Given the description of an element on the screen output the (x, y) to click on. 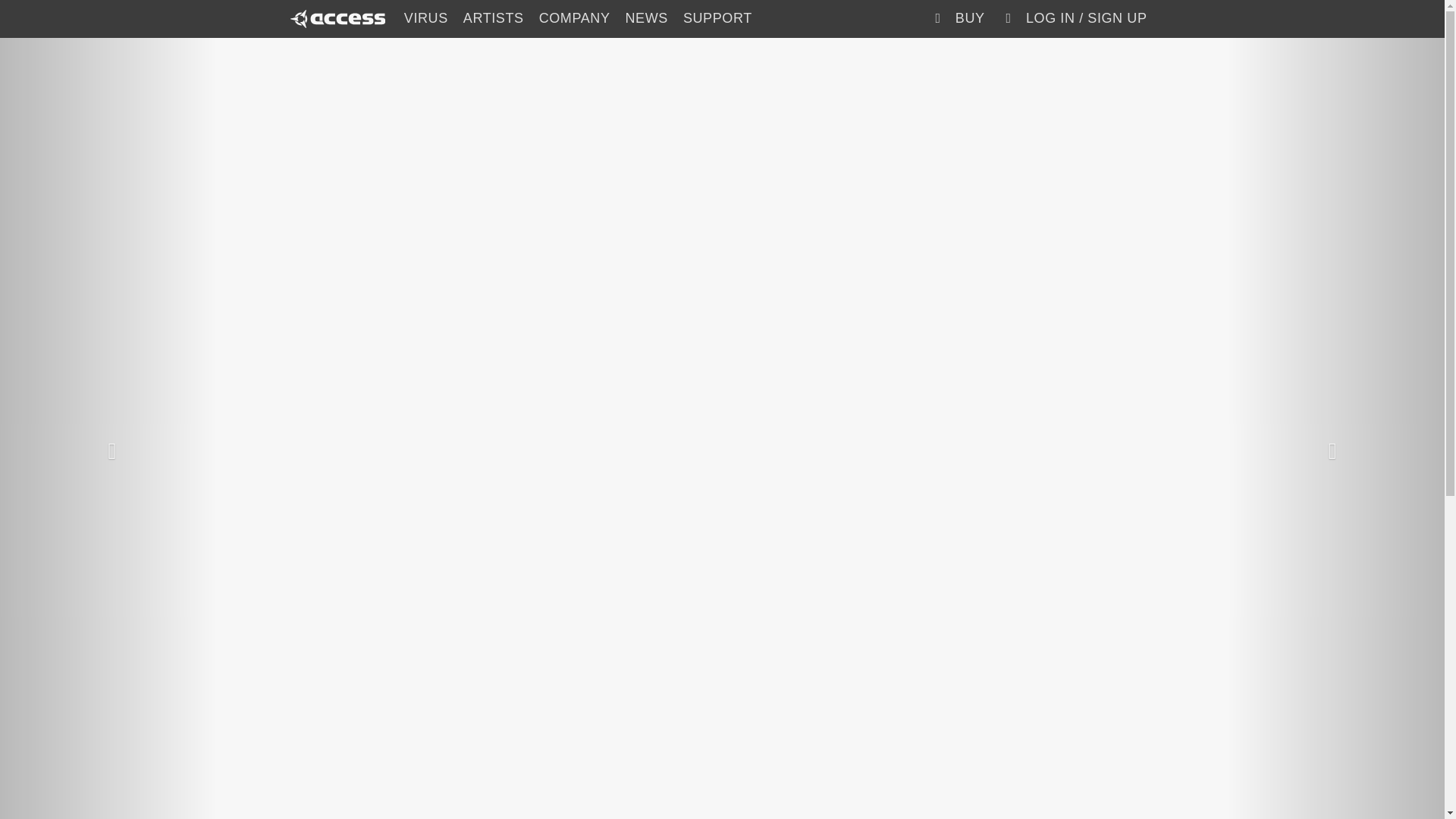
NEWS (646, 18)
VIRUS (425, 18)
ARTISTS (493, 18)
SUPPORT (717, 18)
 BUY (956, 18)
COMPANY (574, 18)
